Given the description of an element on the screen output the (x, y) to click on. 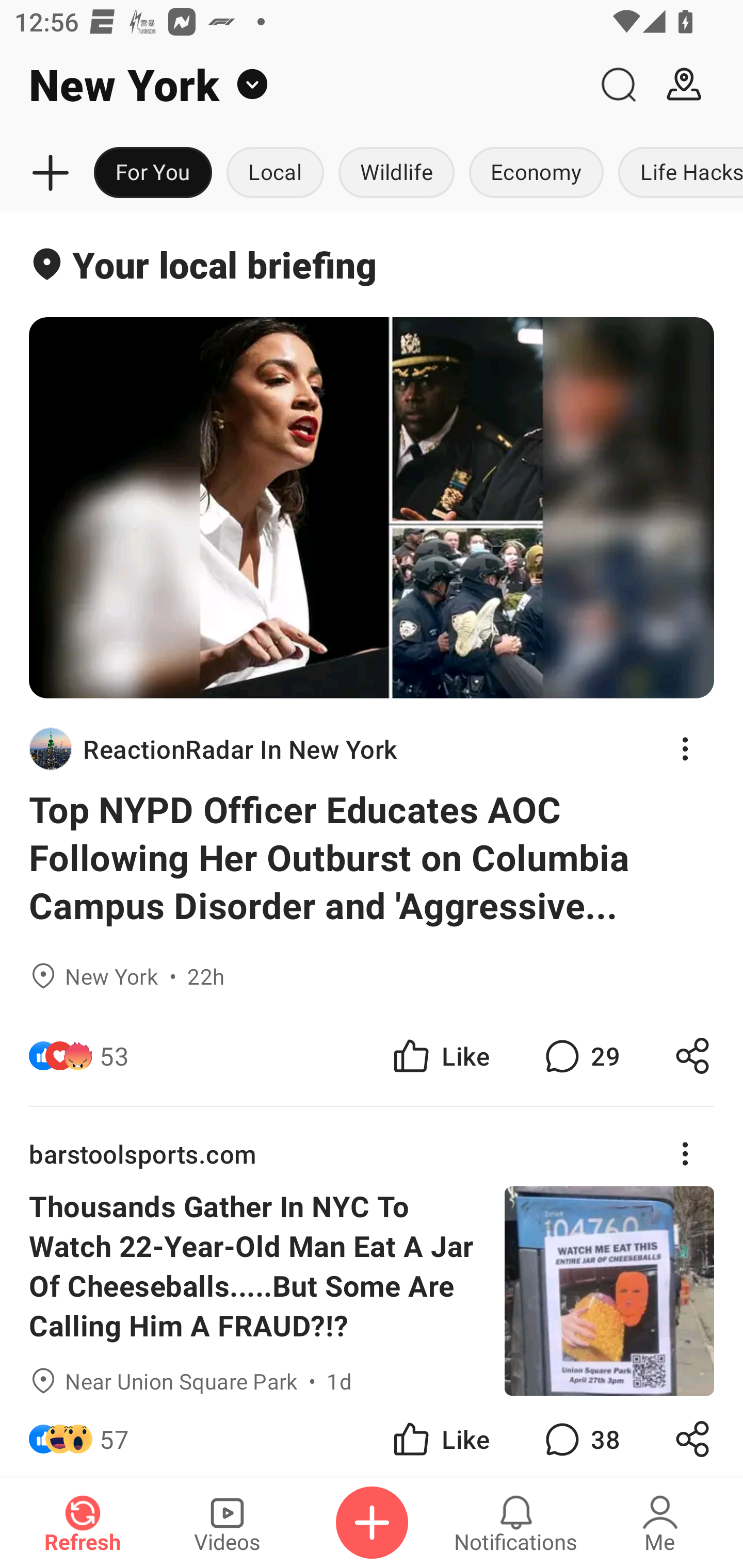
New York (292, 84)
For You (152, 172)
Local (275, 172)
Wildlife (396, 172)
Economy (536, 172)
Life Hacks (676, 172)
53 (114, 1055)
Like (439, 1055)
29 (579, 1055)
57 (114, 1436)
Like (439, 1436)
38 (579, 1436)
Videos (227, 1522)
Notifications (516, 1522)
Me (659, 1522)
